Given the description of an element on the screen output the (x, y) to click on. 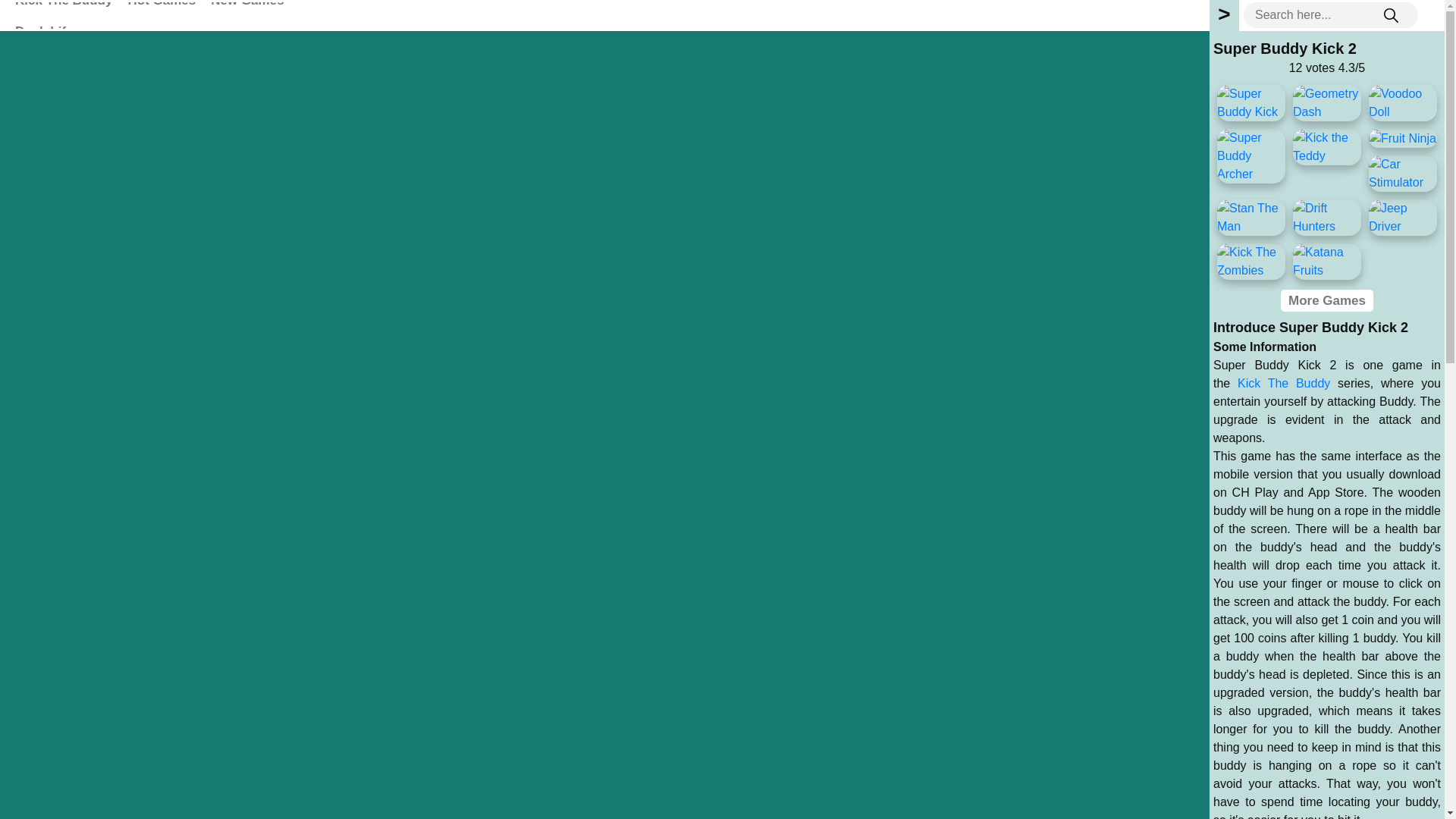
More Games (1327, 300)
Kick The Buddy (1283, 382)
Katana Fruits (1326, 261)
Geometry Dash (1326, 103)
Super Buddy Kick (1251, 103)
Duck Life (44, 30)
More Games (1327, 300)
Kick The Zombies (1251, 261)
Drift Hunters (1326, 217)
Stan The Man (1251, 217)
